Given the description of an element on the screen output the (x, y) to click on. 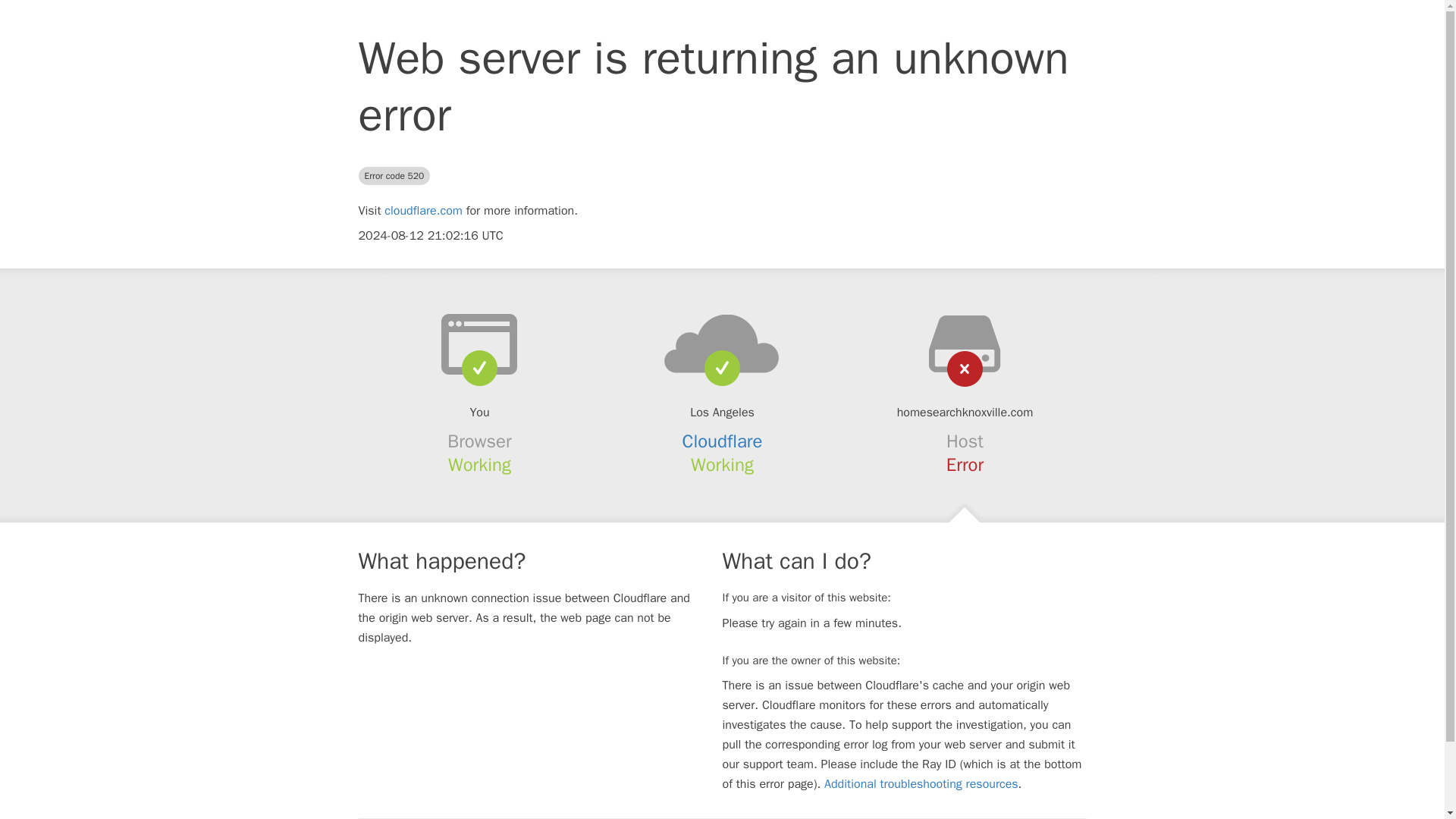
Cloudflare (722, 440)
cloudflare.com (423, 210)
Additional troubleshooting resources (920, 783)
